Given the description of an element on the screen output the (x, y) to click on. 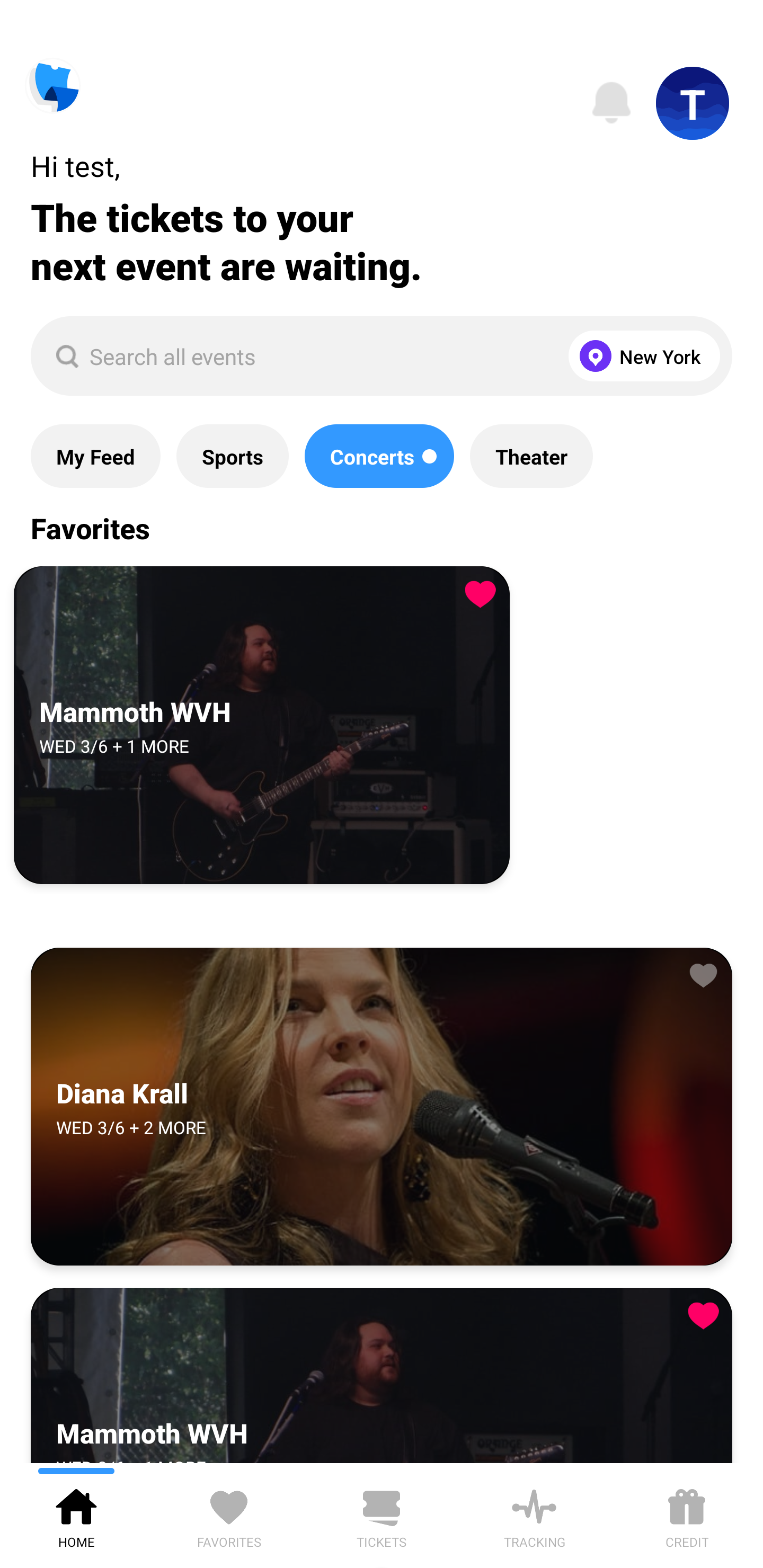
T (692, 103)
New York (640, 355)
My Feed (95, 455)
Sports (232, 455)
Concerts (378, 455)
Theater (531, 455)
HOME (76, 1515)
FAVORITES (228, 1515)
TICKETS (381, 1515)
TRACKING (533, 1515)
CREDIT (686, 1515)
